Given the description of an element on the screen output the (x, y) to click on. 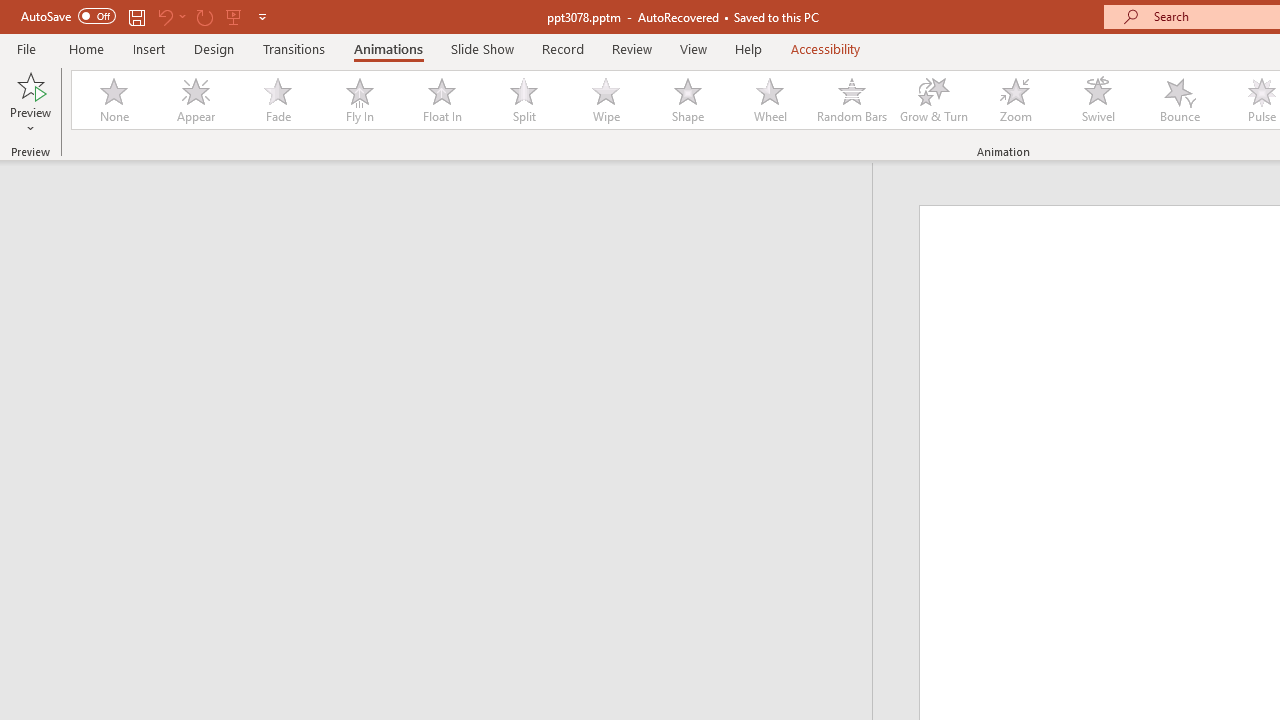
Bounce (1180, 100)
Float In (441, 100)
Wipe (605, 100)
Grow & Turn (934, 100)
Fade (277, 100)
